Given the description of an element on the screen output the (x, y) to click on. 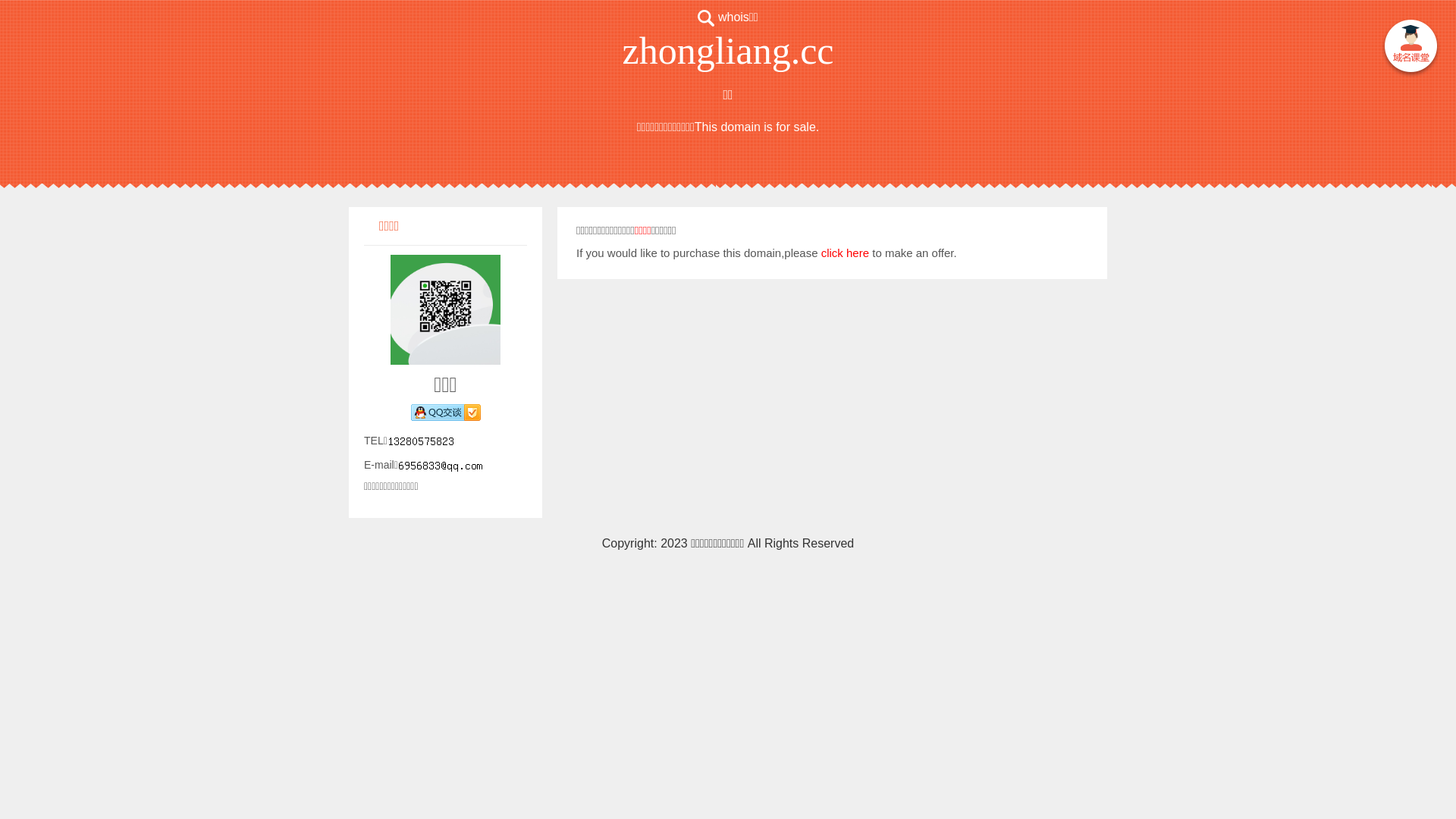
click here Element type: text (845, 252)
  Element type: text (1410, 48)
